Given the description of an element on the screen output the (x, y) to click on. 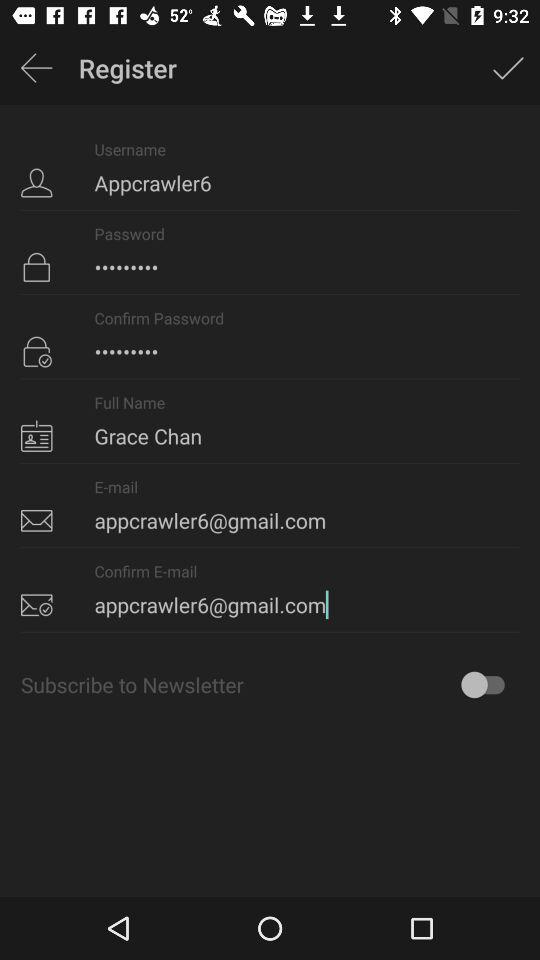
press icon at the top right corner (508, 67)
